Given the description of an element on the screen output the (x, y) to click on. 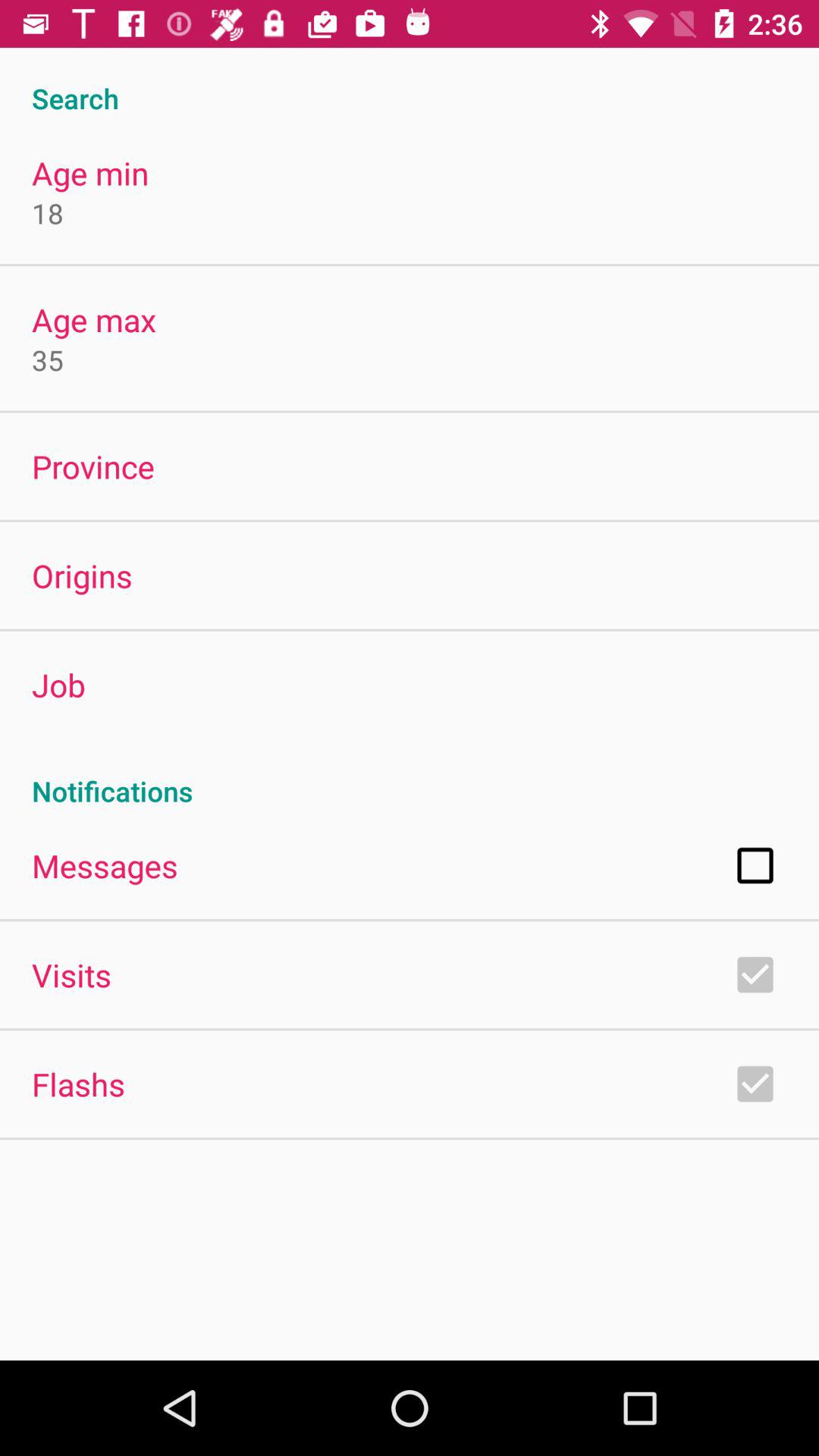
choose the app below age max icon (47, 359)
